Given the description of an element on the screen output the (x, y) to click on. 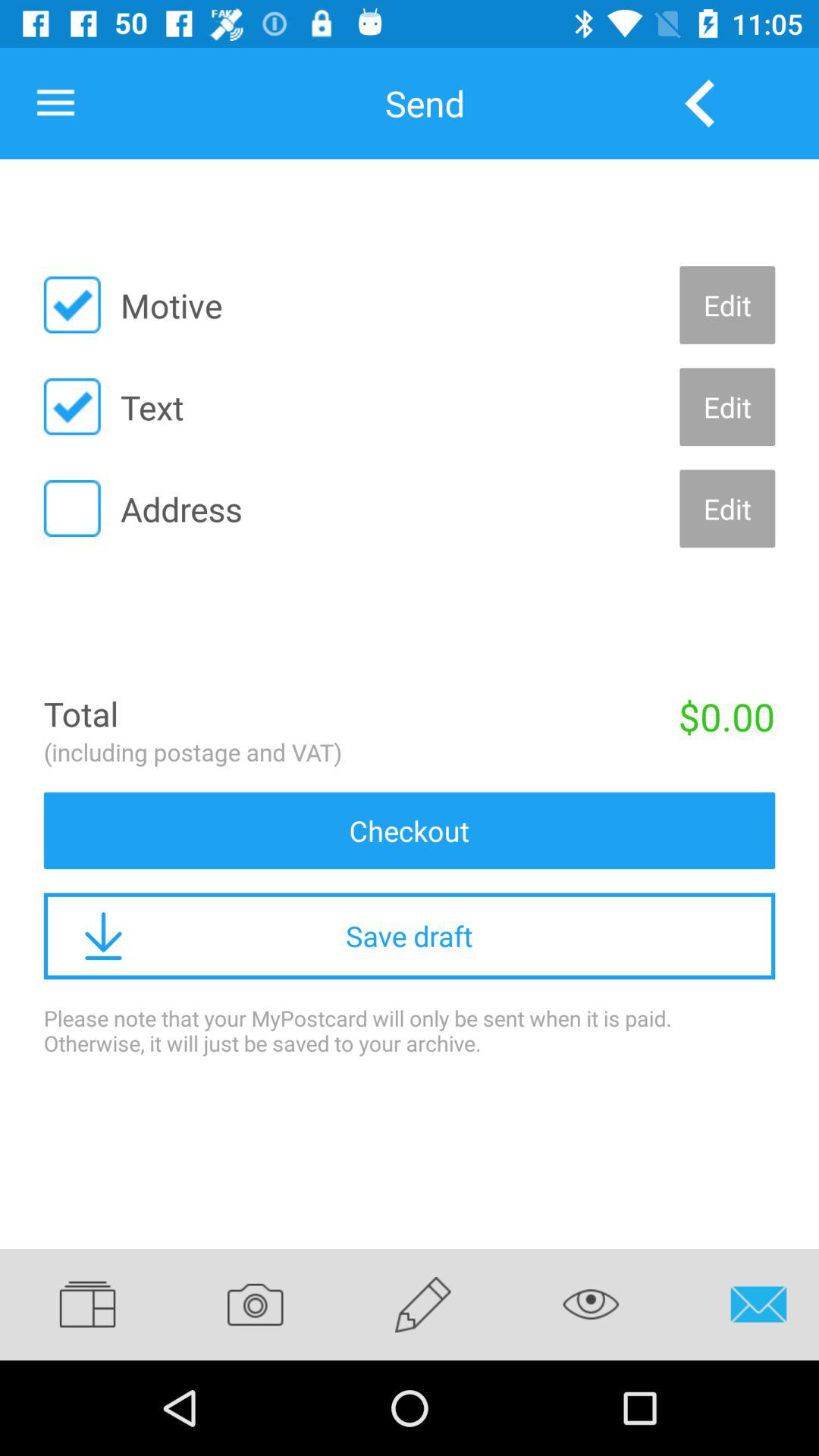
click icon below please note that item (591, 1304)
